Given the description of an element on the screen output the (x, y) to click on. 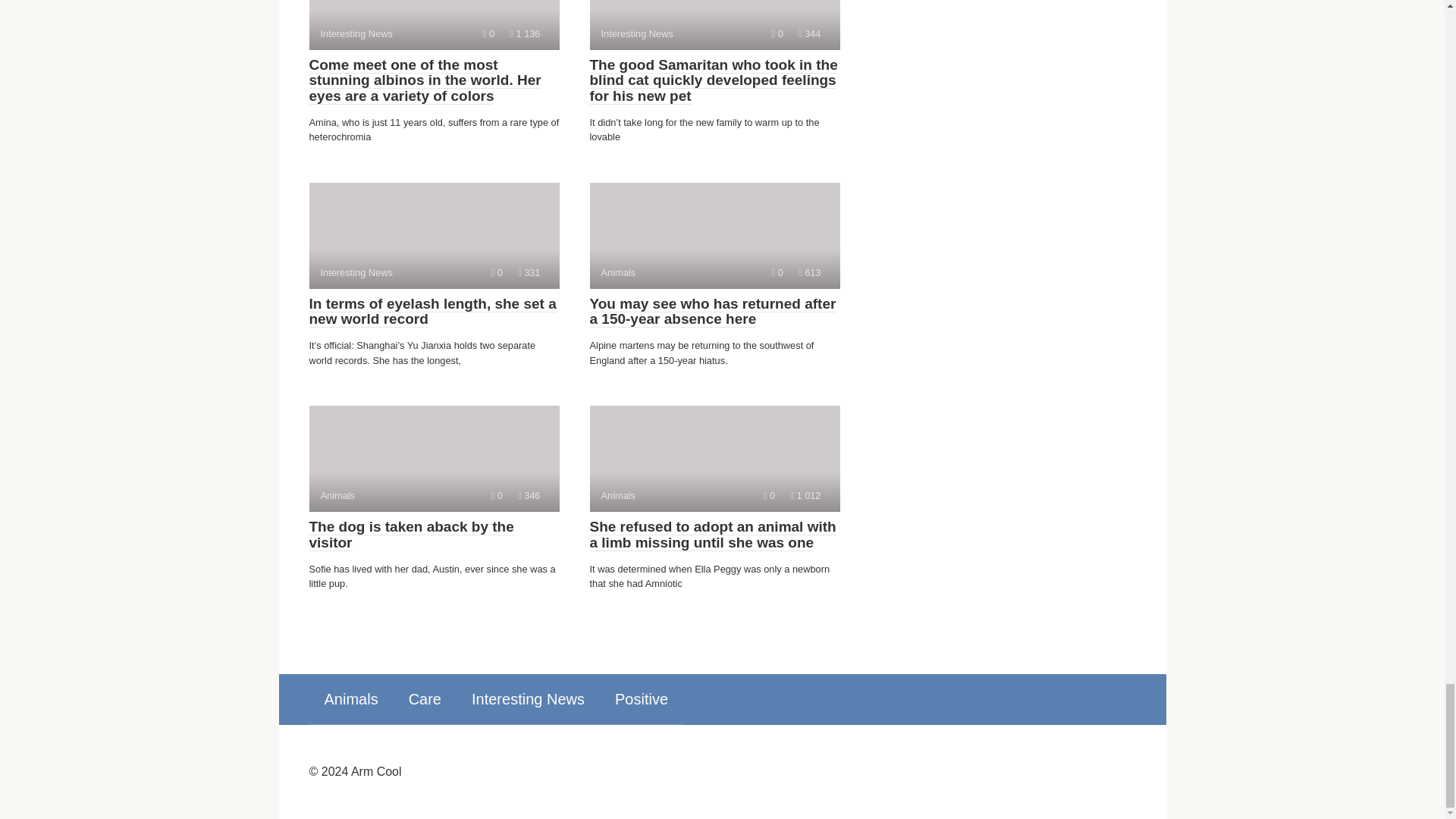
Positive (433, 24)
In terms of eyelash length, she set a new world record (433, 235)
You may see who has returned after a 150-year absence here (640, 698)
Animals (714, 458)
The dog is taken aback by the visitor (432, 311)
Care (714, 235)
